Given the description of an element on the screen output the (x, y) to click on. 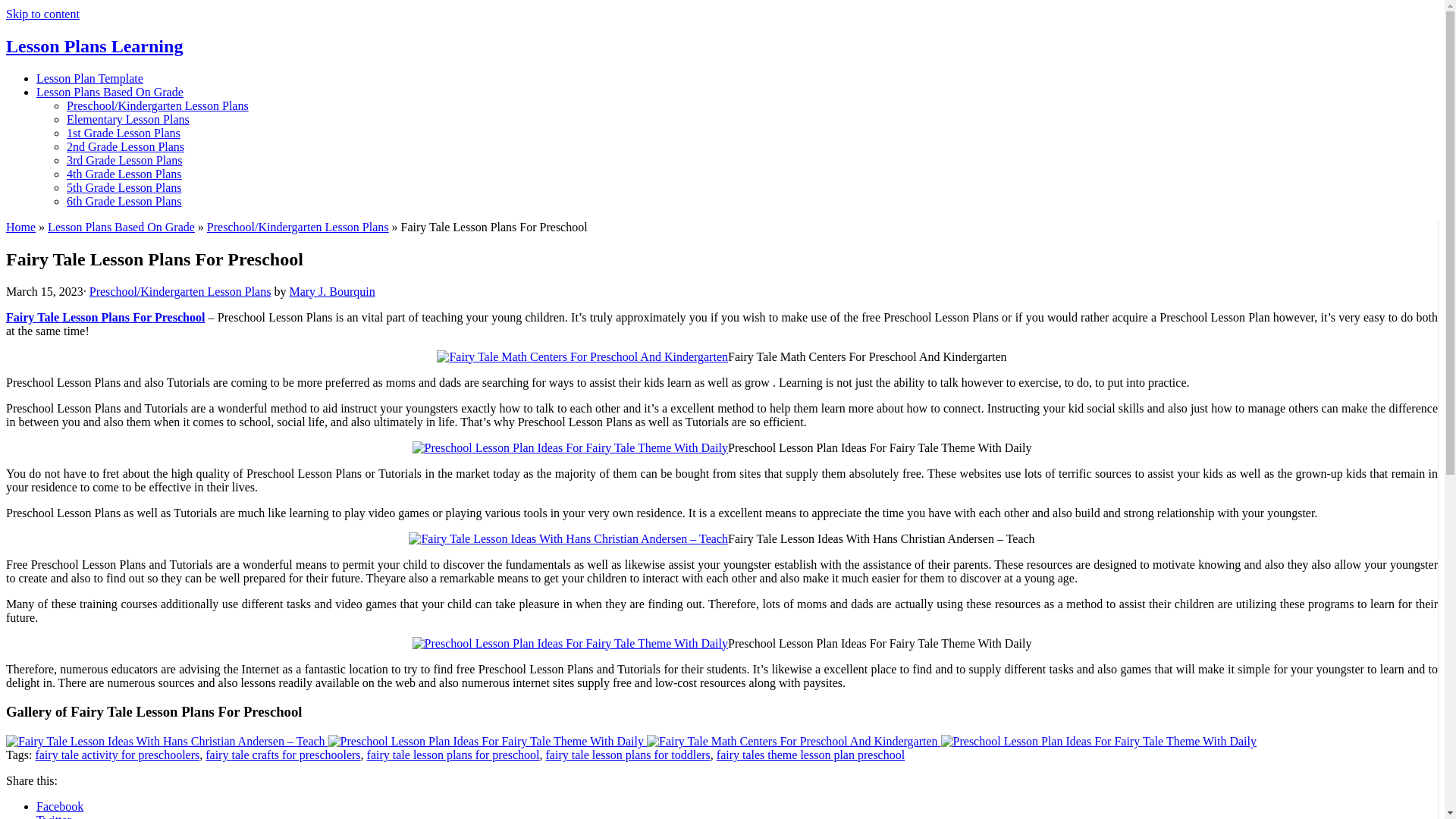
fairy tale lesson plans for toddlers (628, 754)
Mary J. Bourquin (331, 291)
Lesson Plans Learning (94, 46)
fairy tale math centers for preschool and kindergarten 2 (582, 356)
1st Grade Lesson Plans (123, 132)
3rd Grade Lesson Plans (124, 160)
Fairy Tale Math Centers For Preschool And Kindergarten (791, 741)
Fairy Tale Math Centers For Preschool And Kindergarten (793, 740)
2nd Grade Lesson Plans (125, 146)
Preschool Lesson Plan Ideas For Fairy Tale Theme With Daily (1098, 740)
6th Grade Lesson Plans (124, 201)
Lesson Plans Based On Grade (121, 226)
Elementary Lesson Plans (127, 119)
5th Grade Lesson Plans (124, 187)
Preschool Lesson Plan Ideas For Fairy Tale Theme With Daily (1098, 741)
